Given the description of an element on the screen output the (x, y) to click on. 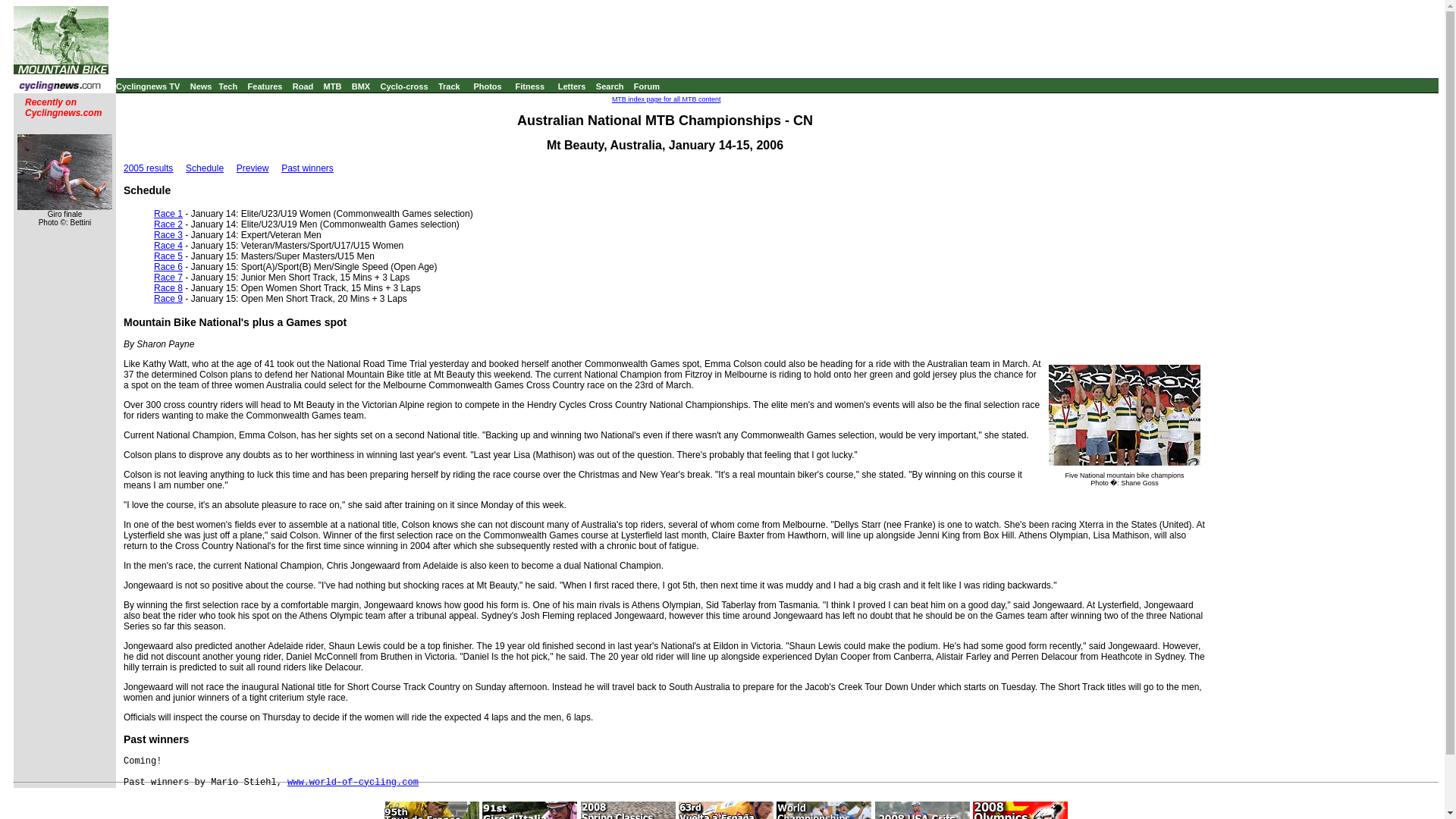
Track (449, 85)
News (201, 85)
3rd party ad content (1321, 658)
Cyclingnews TV (147, 85)
Race 6 (168, 266)
3rd party ad content (776, 39)
Race 7 (168, 276)
Tech (227, 85)
Race 8 (168, 287)
Search (609, 85)
